Given the description of an element on the screen output the (x, y) to click on. 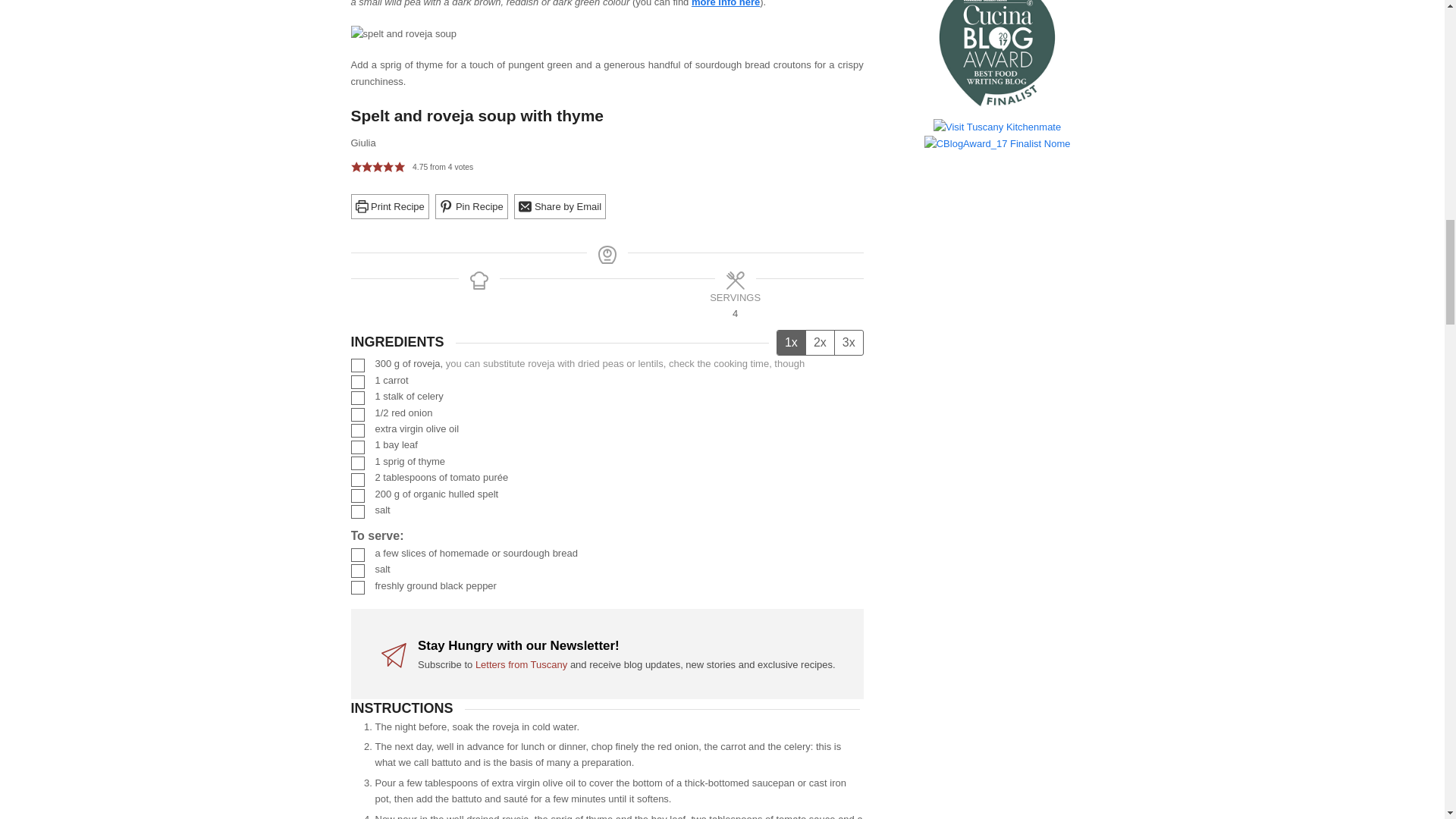
Print Recipe (389, 206)
1x (791, 342)
Pin Recipe (470, 206)
Share by Email (559, 206)
Letters from Tuscany (521, 664)
3x (848, 342)
spelt and roveja soup (403, 33)
more info here (725, 3)
2x (819, 342)
